Given the description of an element on the screen output the (x, y) to click on. 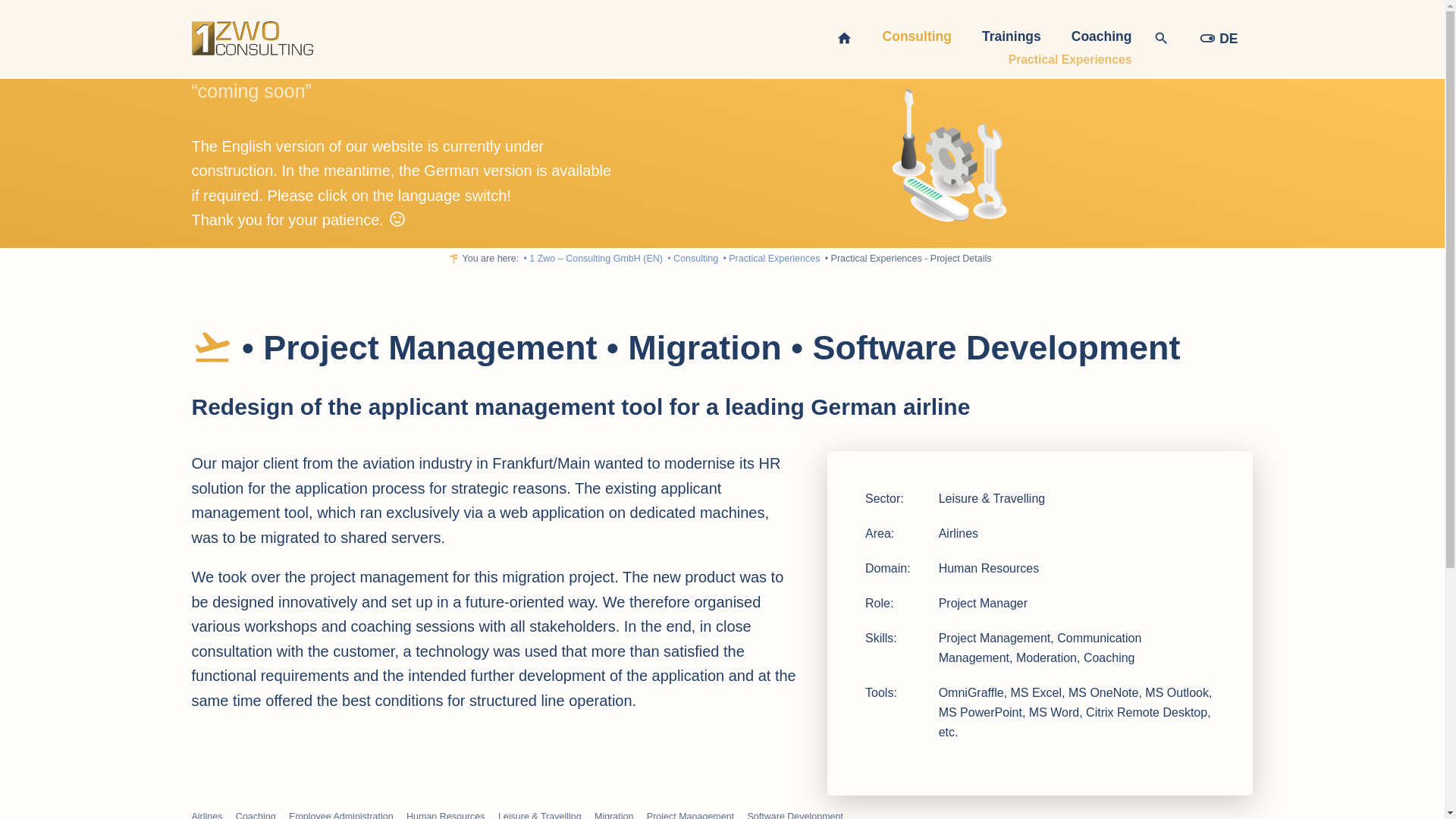
Consulting (917, 36)
DE (1218, 38)
Trainings (1011, 36)
Coaching (1102, 36)
Wechsel zu Deutsch: Praxiserfahrungen - Schlagwortsuche (1218, 38)
Practical Experiences (1070, 59)
Consulting (691, 259)
Practical Experiences - Keyword Search (1070, 59)
Trainings (1011, 36)
Consulting (917, 36)
